Given the description of an element on the screen output the (x, y) to click on. 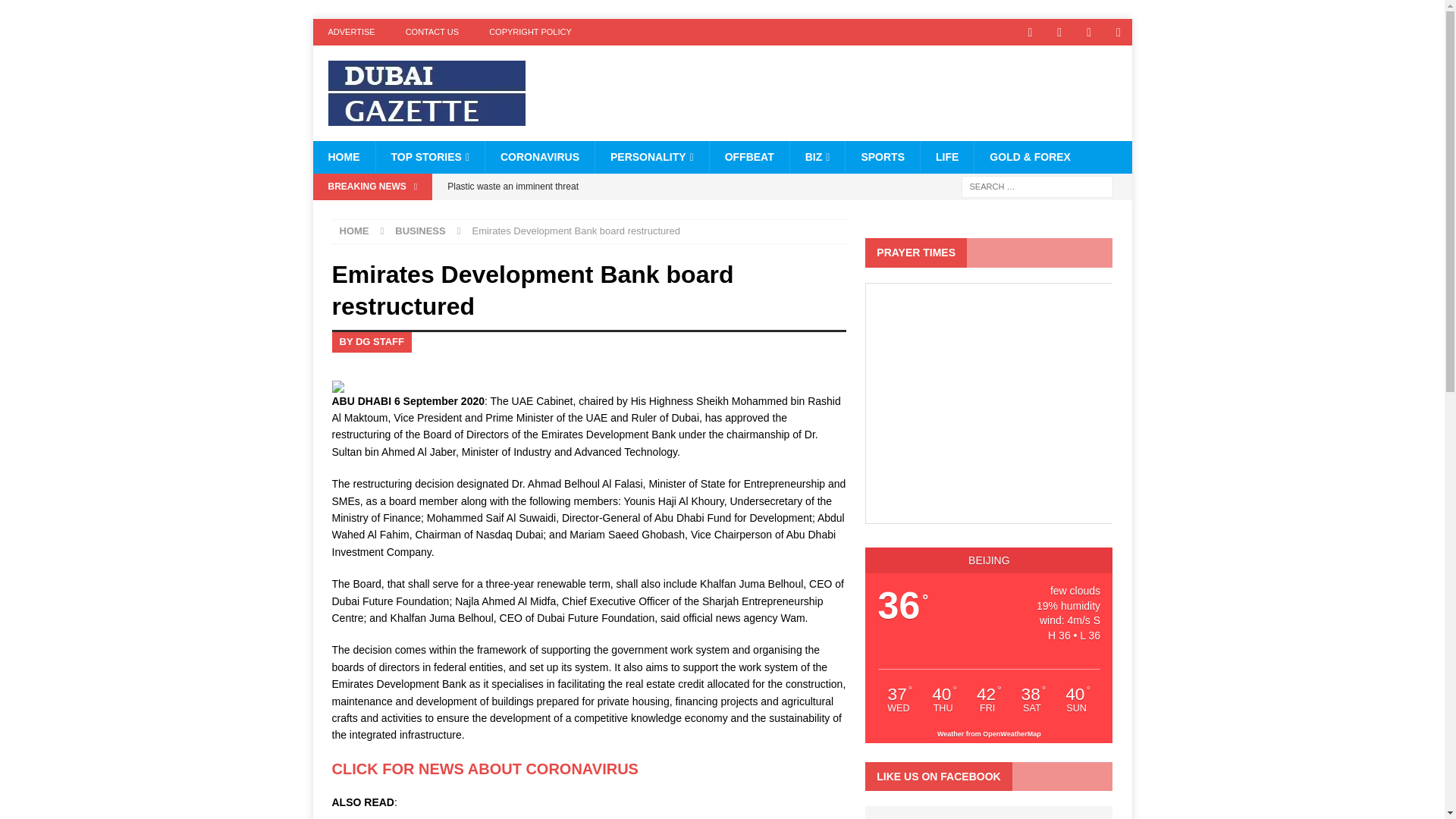
COPYRIGHT POLICY (530, 31)
ADVERTISE (351, 31)
HOME (343, 156)
Plastic waste an imminent threat (640, 186)
PERSONALITY (651, 156)
CORONAVIRUS (539, 156)
TOP STORIES (429, 156)
CONTACT US (432, 31)
